Given the description of an element on the screen output the (x, y) to click on. 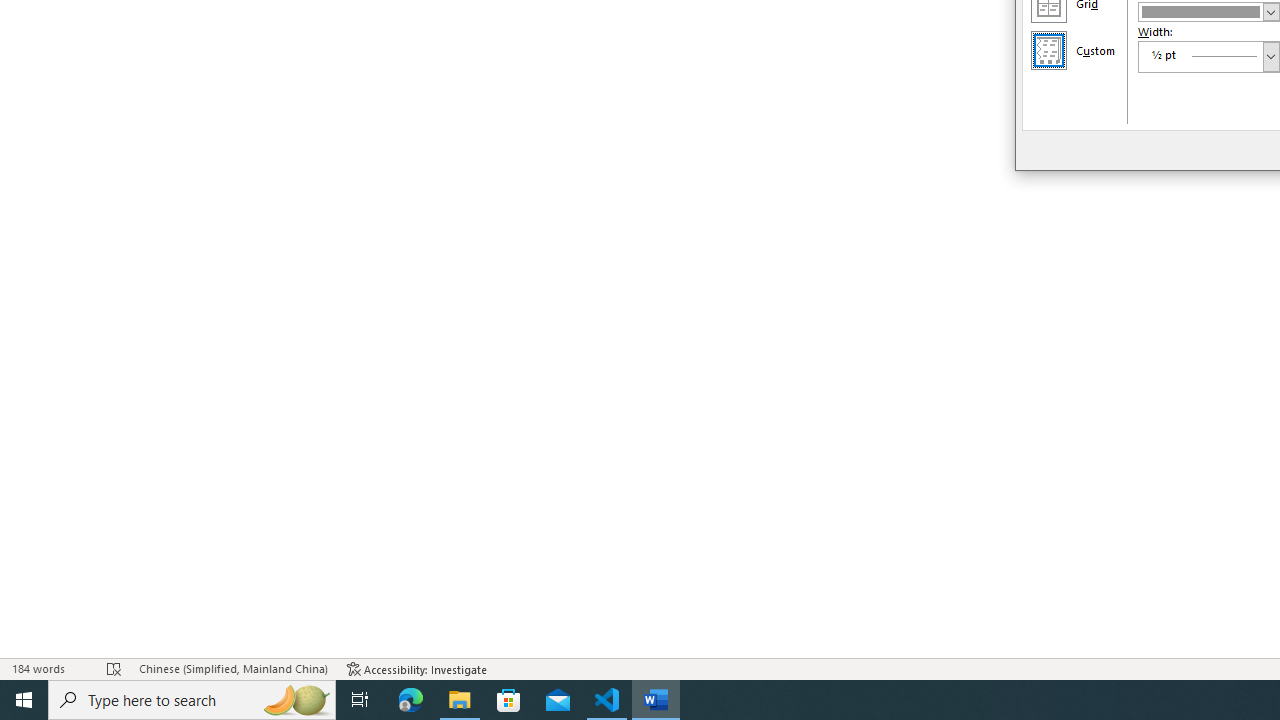
Type here to search (191, 699)
Spelling and Grammar Check Errors (114, 668)
File Explorer - 1 running window (460, 699)
Task View (359, 699)
Custom (1048, 49)
Microsoft Store (509, 699)
Microsoft Edge (411, 699)
Start (24, 699)
Language Chinese (Simplified, Mainland China) (232, 668)
Word - 1 running window (656, 699)
Word Count 184 words (49, 668)
Accessibility Checker Accessibility: Investigate (417, 668)
Search highlights icon opens search home window (295, 699)
Visual Studio Code - 1 running window (607, 699)
